Given the description of an element on the screen output the (x, y) to click on. 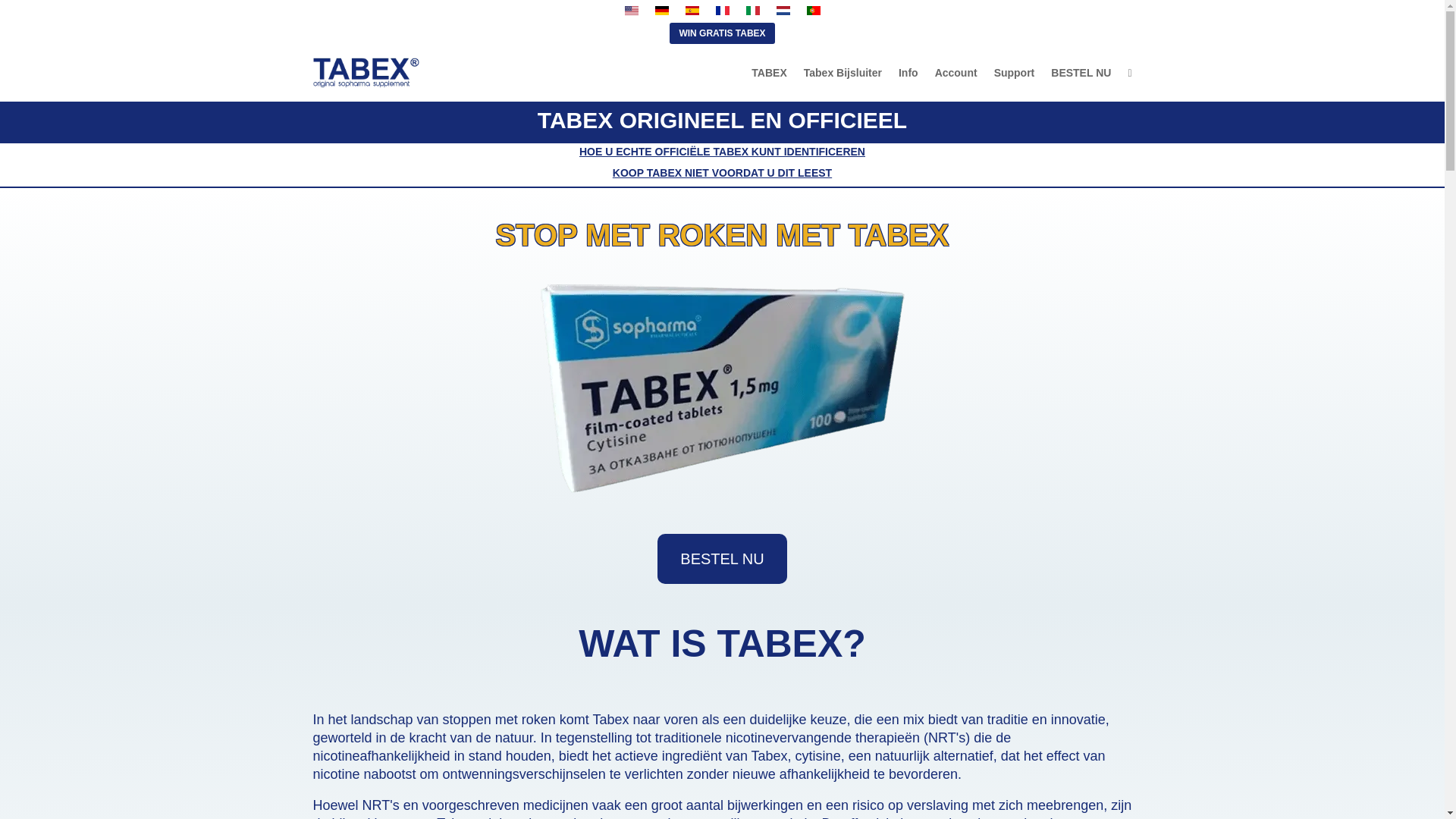
French (722, 10)
BESTEL NU (1080, 72)
Dutch (783, 10)
Spanish (691, 10)
Italian (752, 10)
Tabex Bijsluiter (842, 72)
Portuguese (813, 10)
WIN GRATIS TABEX (721, 33)
KOOP TABEX NIET VOORDAT U DIT LEEST (721, 173)
English (631, 10)
BESTEL NU (722, 558)
German (661, 10)
